Given the description of an element on the screen output the (x, y) to click on. 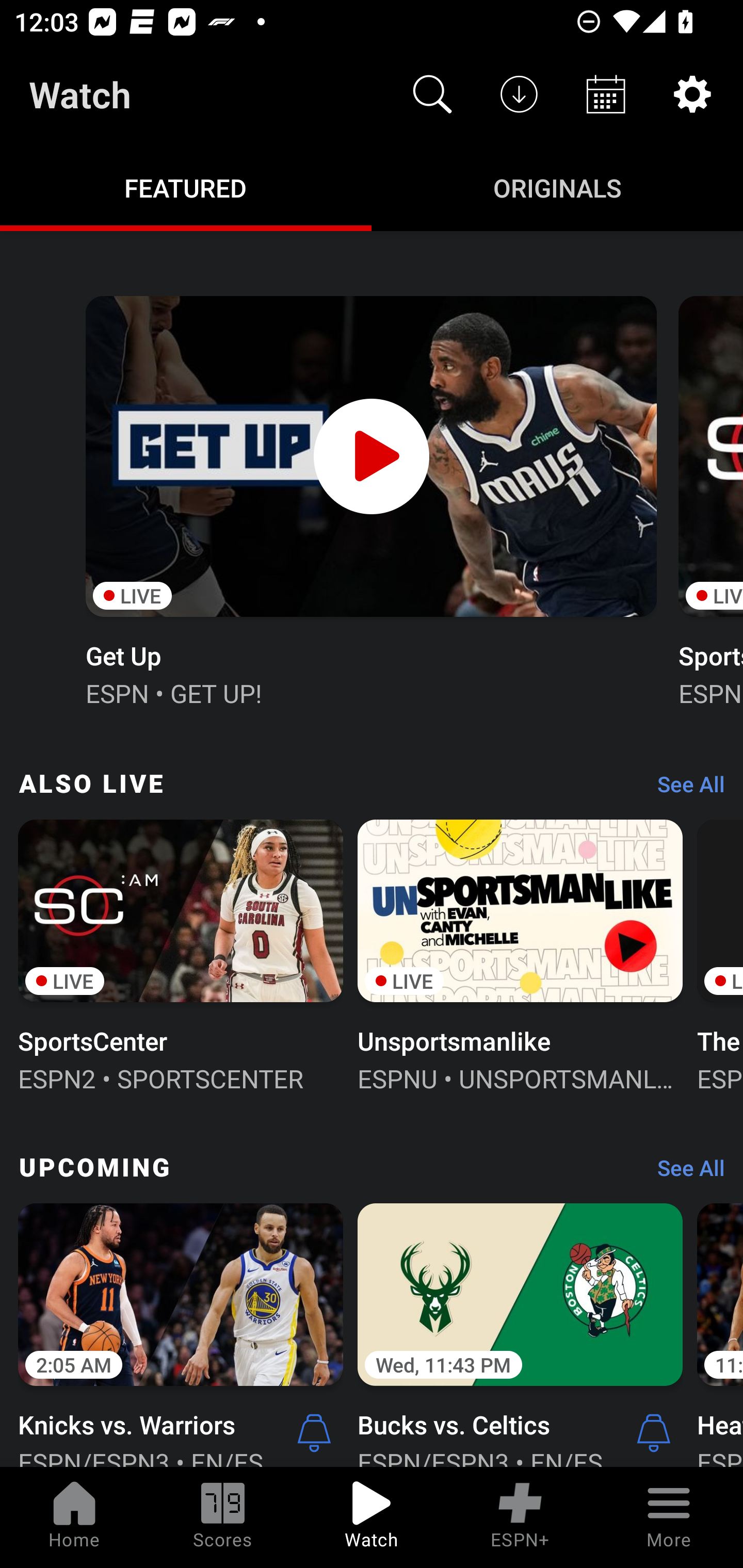
Search (432, 93)
Downloads (518, 93)
Schedule (605, 93)
Settings (692, 93)
Originals ORIGINALS (557, 187)
 LIVE Get Up ESPN • GET UP! (370, 499)
See All (683, 788)
LIVE SportsCenter ESPN2 • SPORTSCENTER (180, 954)
See All (683, 1172)
Alerts (314, 1432)
Alerts (653, 1432)
Home (74, 1517)
Scores (222, 1517)
ESPN+ (519, 1517)
More (668, 1517)
